Given the description of an element on the screen output the (x, y) to click on. 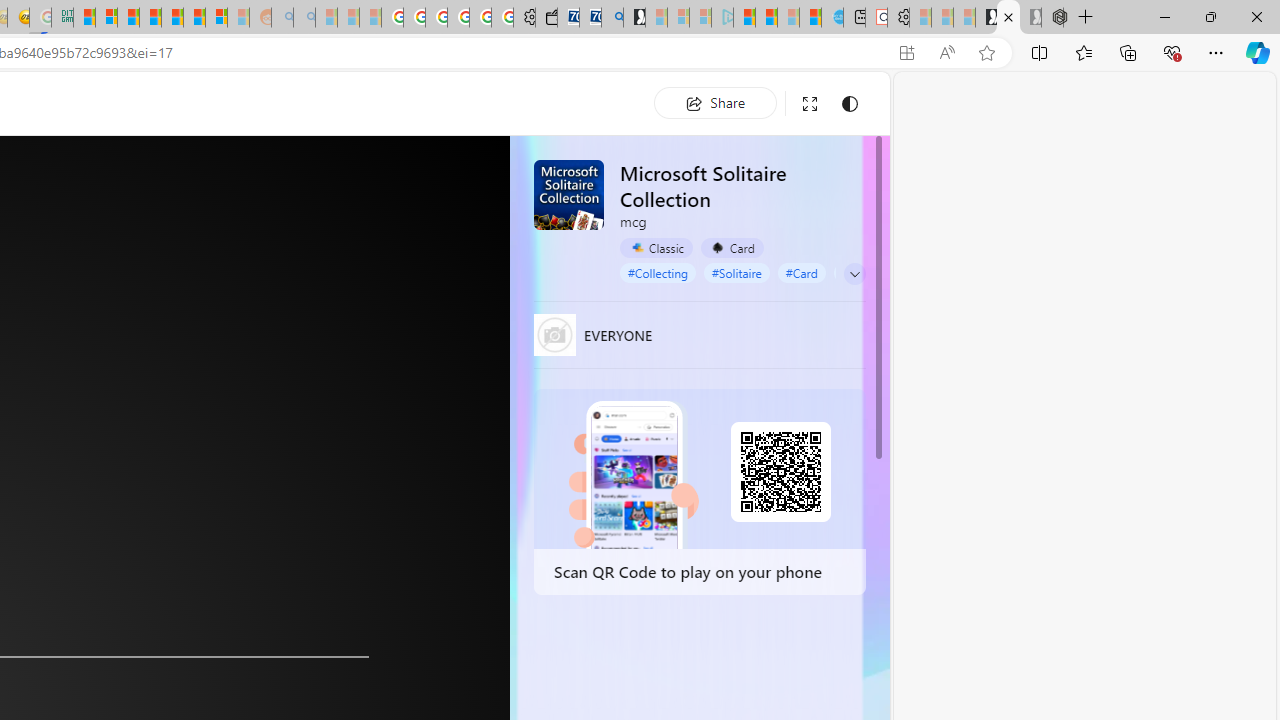
#Card (800, 272)
Student Loan Update: Forgiveness Program Ends This Month (150, 17)
Card (732, 247)
App available. Install Microsoft Solitaire Collection (906, 53)
